Given the description of an element on the screen output the (x, y) to click on. 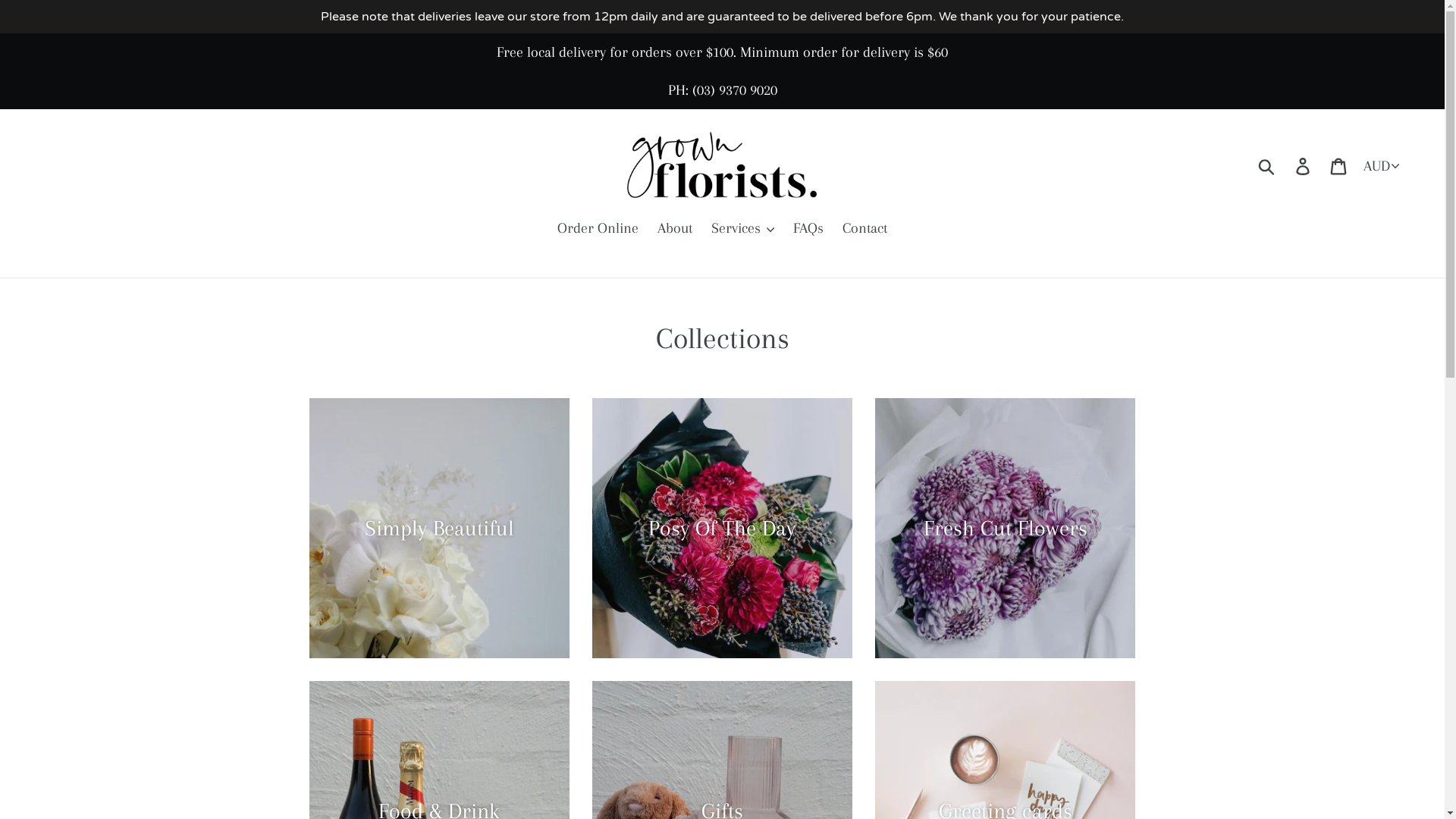
Simply Beautiful Element type: text (439, 528)
FAQs Element type: text (808, 228)
Posy Of The Day Element type: text (722, 528)
PH: (03) 9370 9020 Element type: text (722, 90)
Contact Element type: text (864, 228)
Cart Element type: text (1339, 164)
Log in Element type: text (1303, 164)
Order Online Element type: text (597, 228)
Fresh Cut Flowers Element type: text (1005, 528)
About Element type: text (674, 228)
Submit Element type: text (1267, 164)
